Given the description of an element on the screen output the (x, y) to click on. 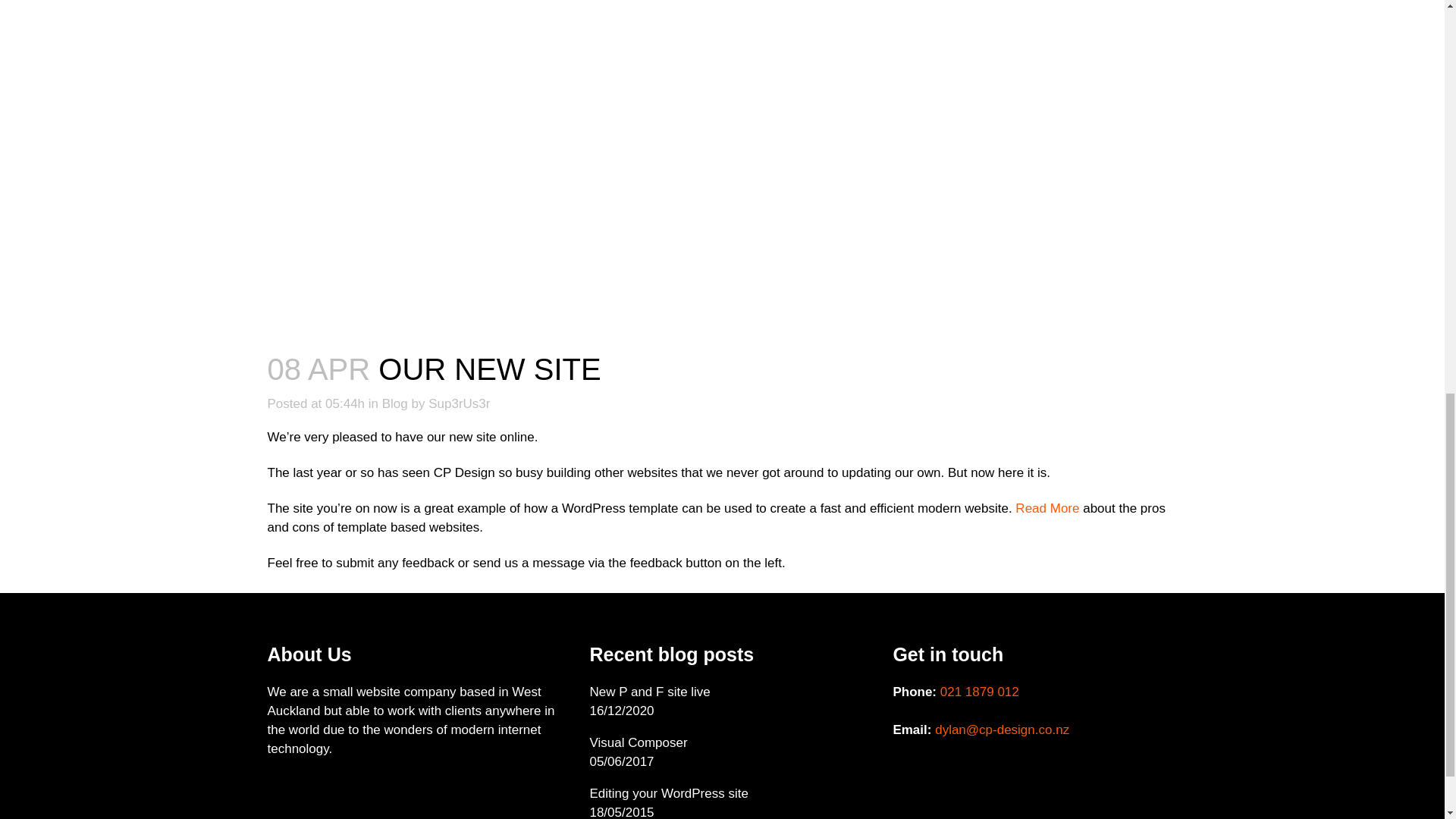
Read More (1046, 508)
Sup3rUs3r (458, 403)
Editing your WordPress site (729, 793)
Blog (394, 403)
New P and F site live (729, 691)
When to Use a Template Website (1046, 508)
021 1879 012 (979, 691)
Visual Composer (729, 742)
